Given the description of an element on the screen output the (x, y) to click on. 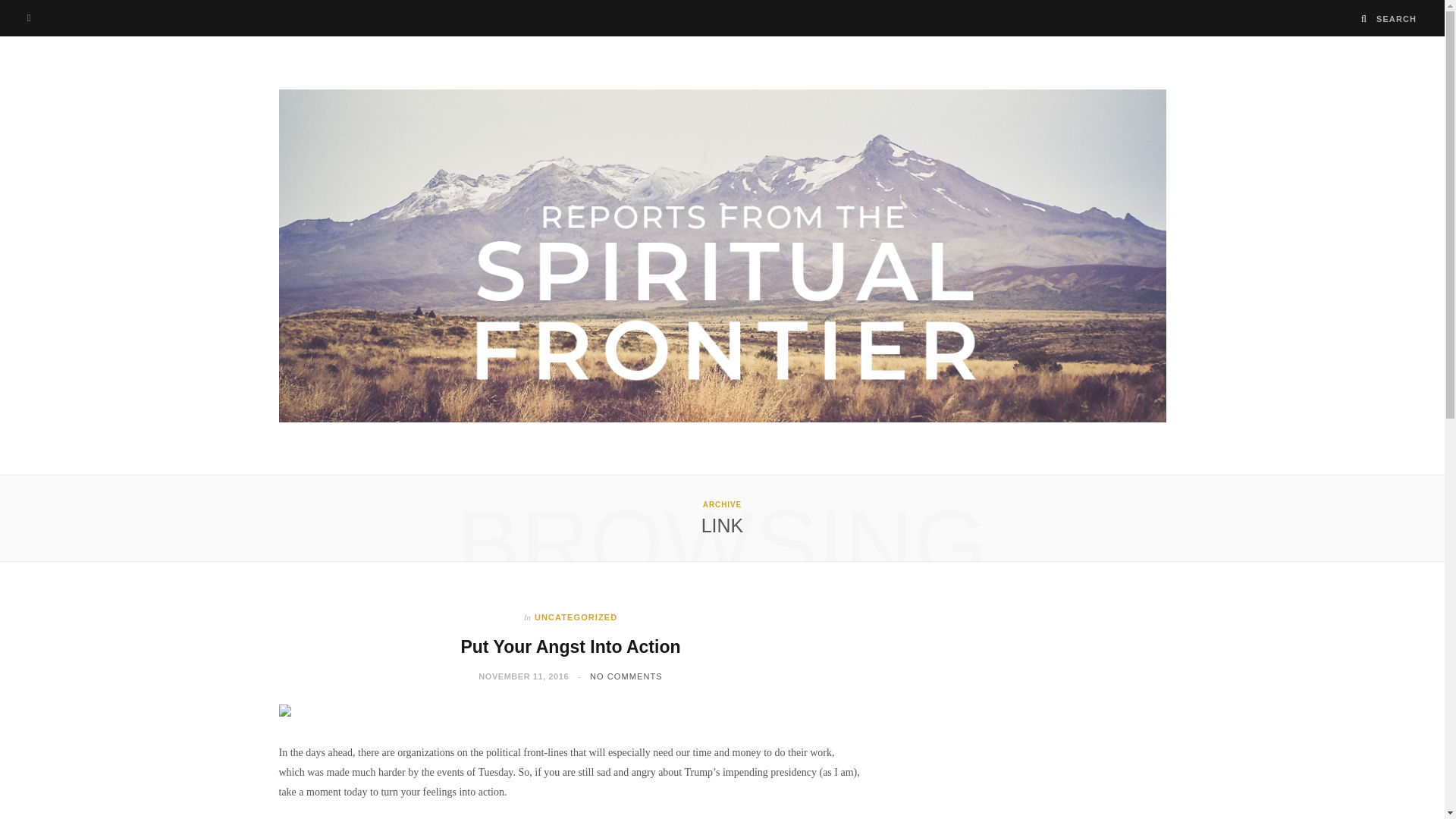
NO COMMENTS (625, 675)
Put Your Angst Into Action (569, 646)
NOVEMBER 11, 2016 (524, 675)
UNCATEGORIZED (575, 616)
